Given the description of an element on the screen output the (x, y) to click on. 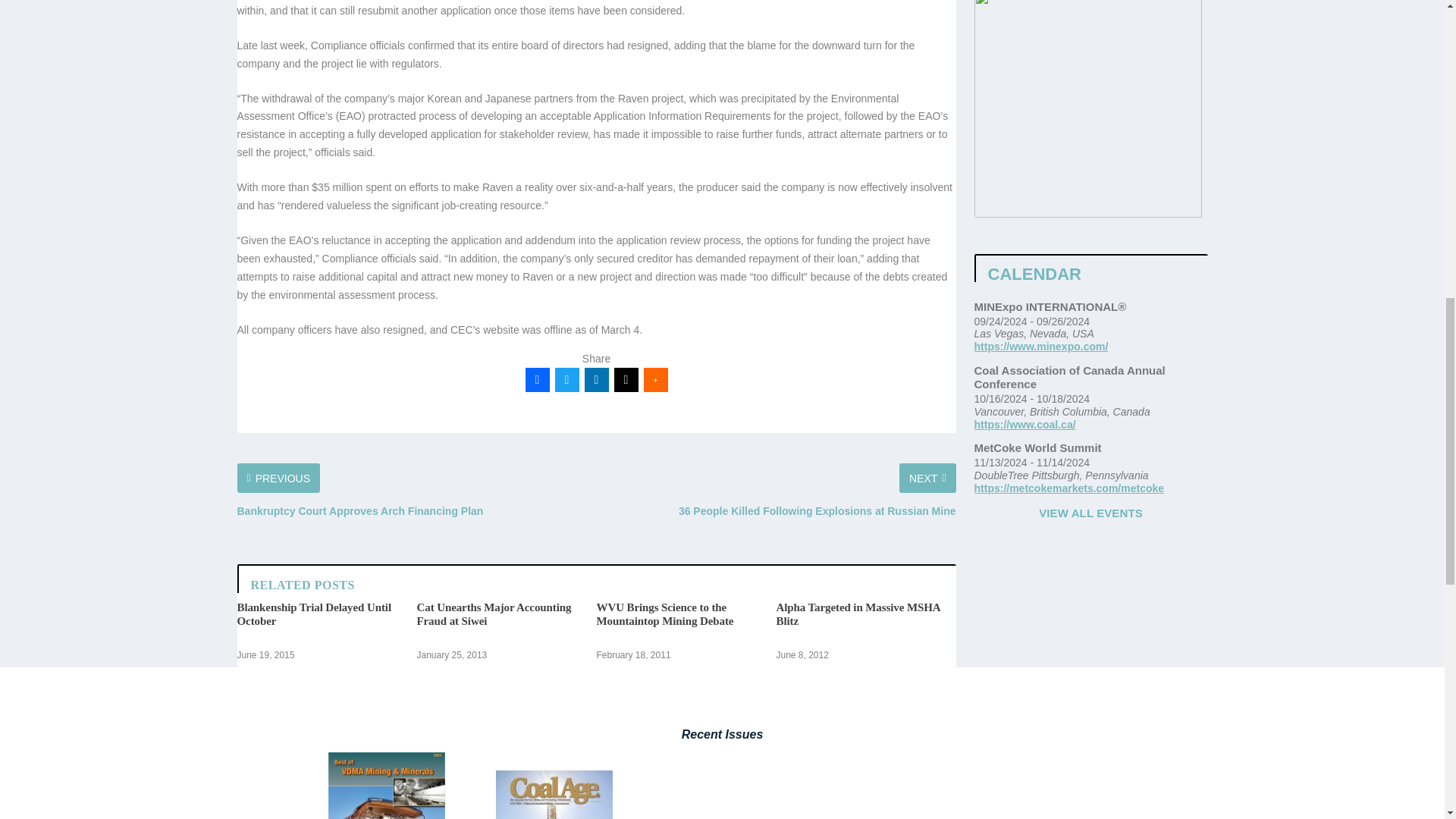
Share this on Facebook (536, 579)
Search (1002, 2)
Warrior Met Reports Record Coal Sales (678, 809)
Email this  (626, 579)
More share links (654, 579)
Tweet this ! (566, 579)
CONSOL Energy Will Restart Idled Longwalls in May (863, 809)
Alliance Battles to Keep Share of the Market (495, 809)
Search (1002, 2)
Add this to LinkedIn (595, 579)
